Given the description of an element on the screen output the (x, y) to click on. 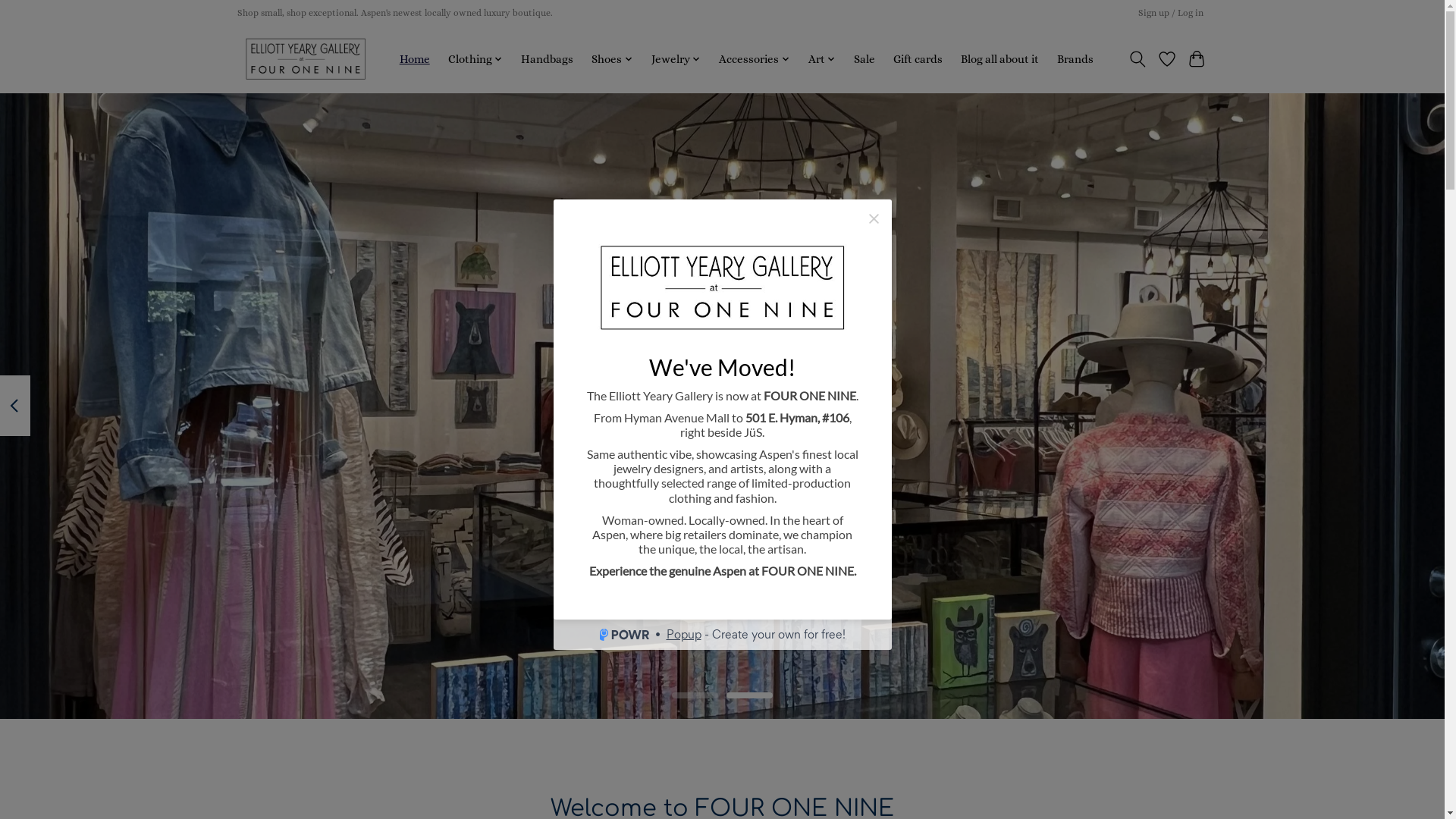
Handbags Element type: text (546, 58)
Home Element type: text (413, 58)
Sign up / Log in Element type: text (1170, 12)
Accessories Element type: text (754, 58)
Sale Element type: text (864, 58)
Jewelry Element type: text (676, 58)
Art Element type: text (821, 58)
Shoes Element type: text (612, 58)
Four One Nine Element type: hover (304, 58)
Blog all about it Element type: text (999, 58)
Brands Element type: text (1074, 58)
Clothing Element type: text (475, 58)
Gift cards Element type: text (917, 58)
